Given the description of an element on the screen output the (x, y) to click on. 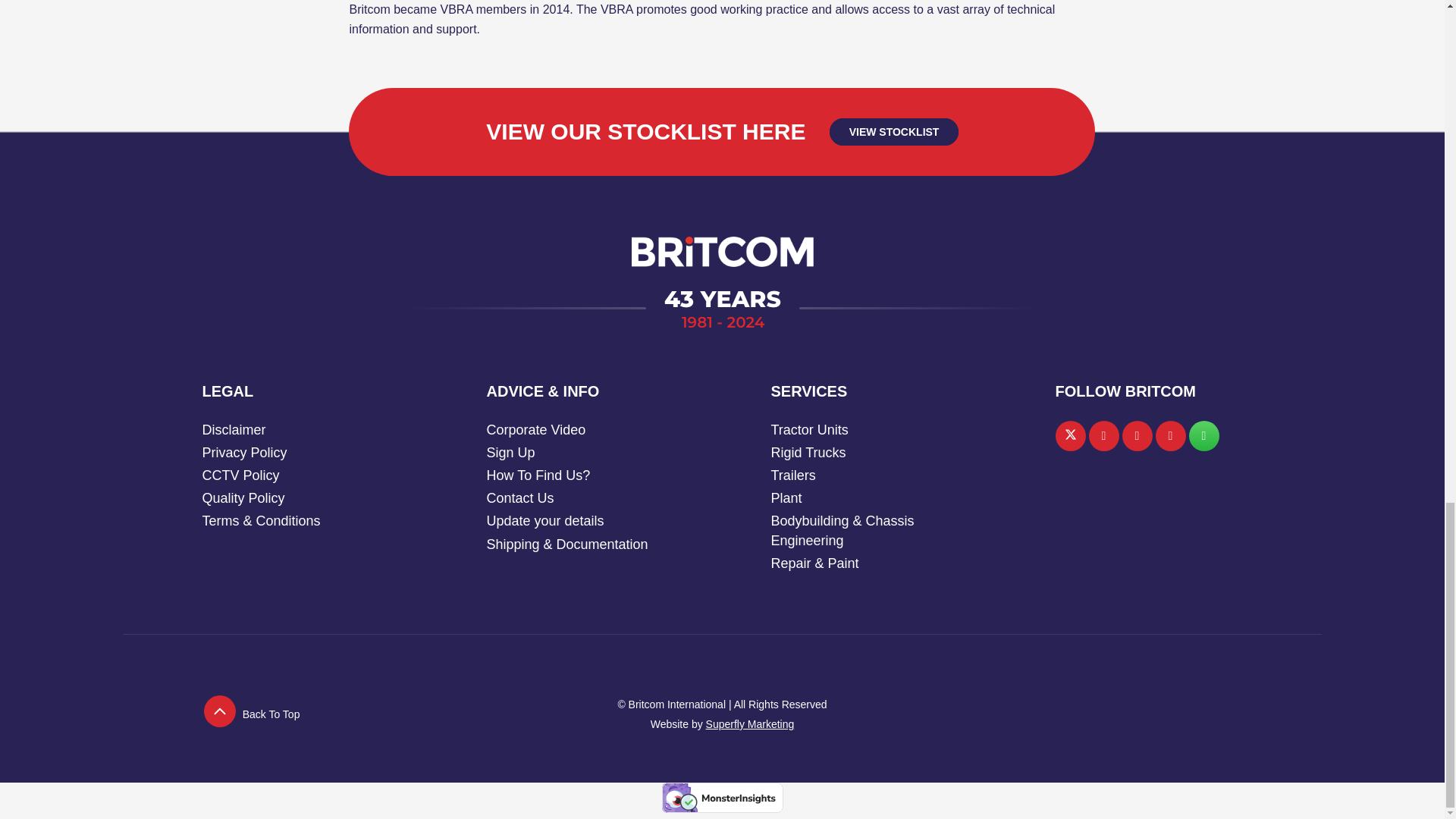
LinkedIn (1137, 435)
CCTV Policy (240, 475)
YouTube (1171, 435)
WhatsApp (1204, 435)
Disclaimer (233, 429)
Twitter (1070, 435)
Facebook (1104, 435)
Quality Policy (242, 498)
Privacy Policy (244, 452)
Verified by MonsterInsights (722, 797)
